Given the description of an element on the screen output the (x, y) to click on. 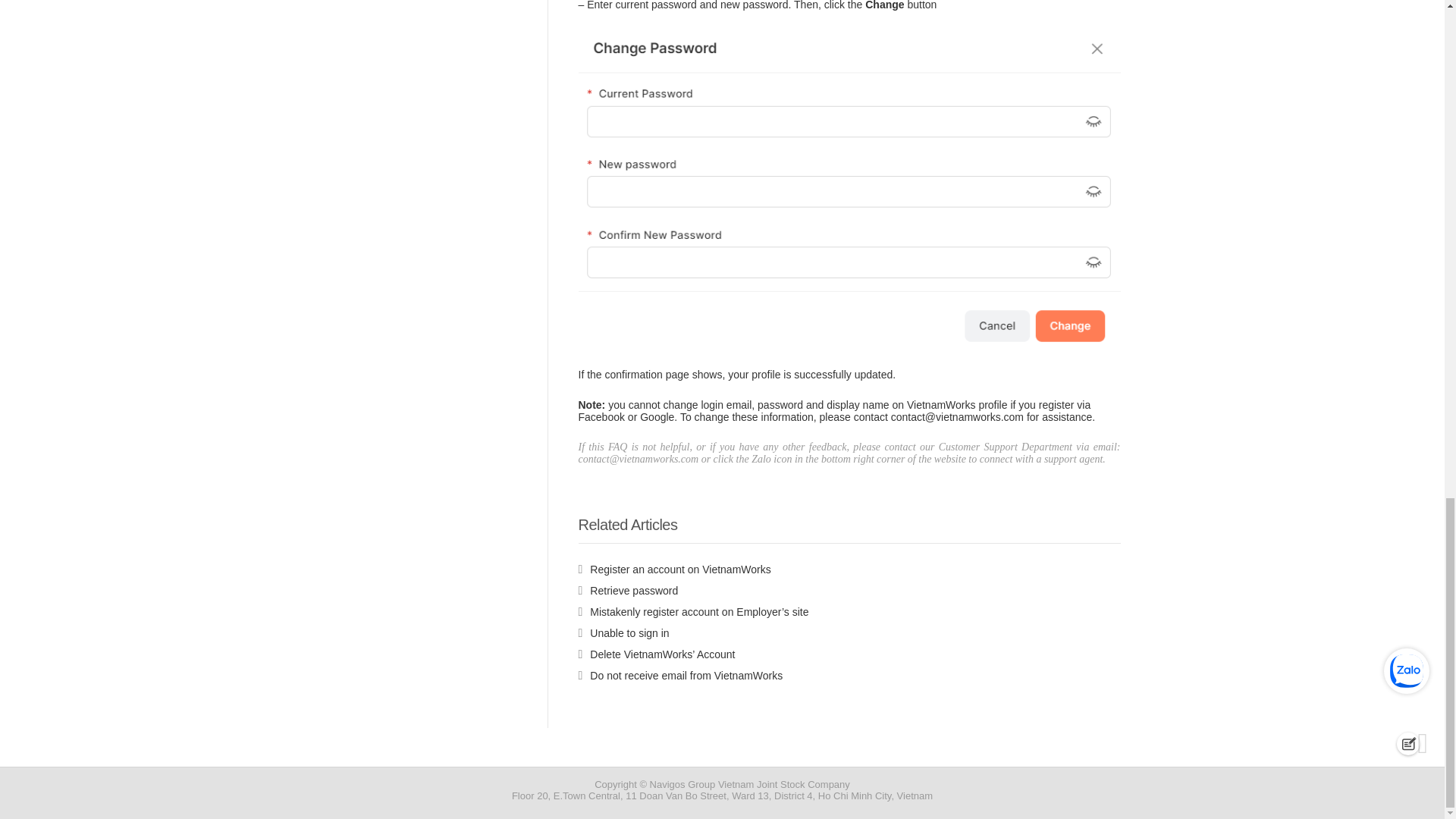
Retrieve password (628, 590)
Unable to sign in (623, 633)
Retrieve password (628, 590)
Do not receive email from VietnamWorks (680, 675)
Do not receive email from VietnamWorks (680, 675)
Register an account on VietnamWorks (674, 569)
Register an account on VietnamWorks (674, 569)
Unable to sign in (623, 633)
